Given the description of an element on the screen output the (x, y) to click on. 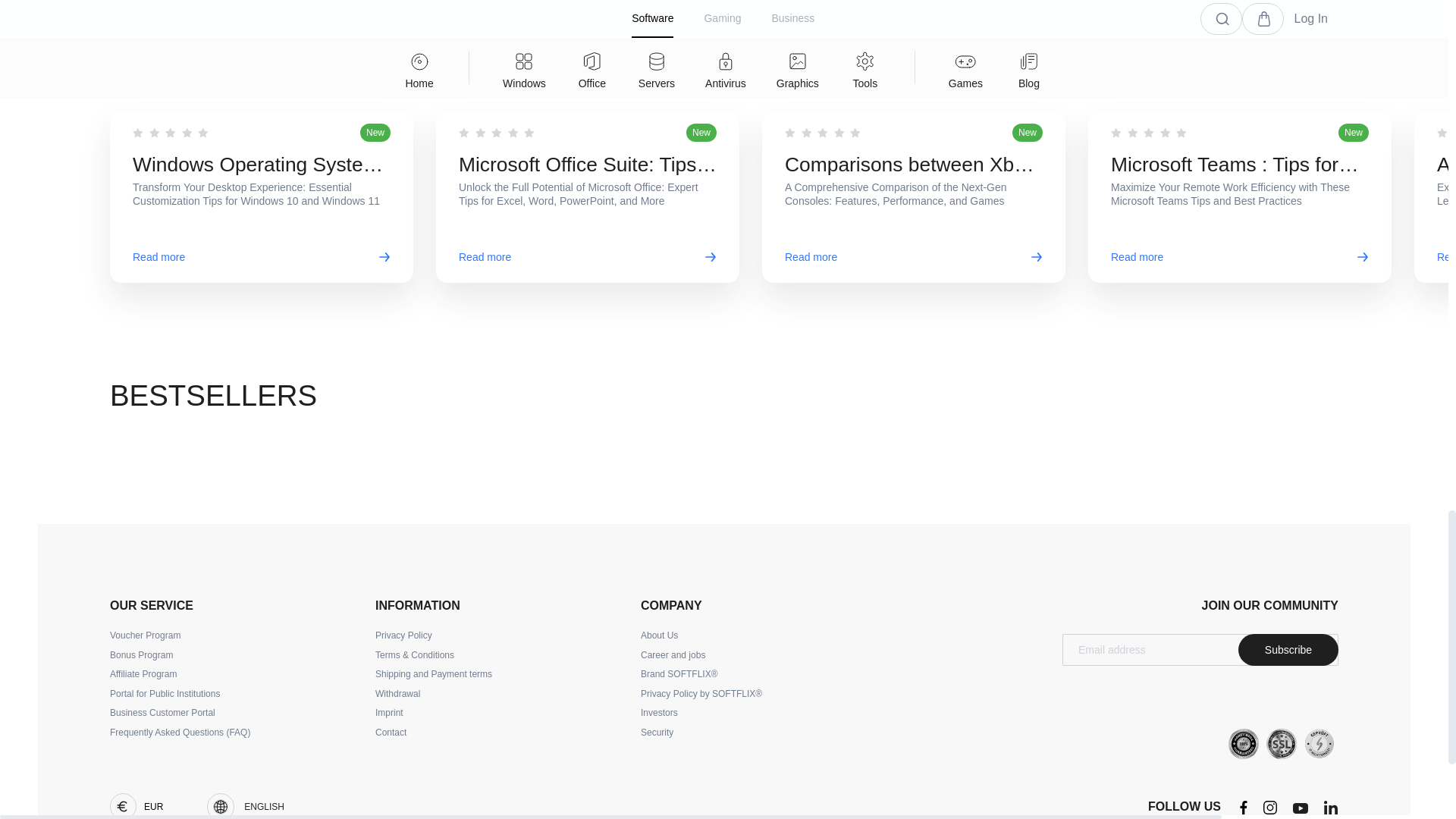
Imprint (389, 713)
Privacy Policy (403, 635)
Shipping and Payment terms (433, 674)
Subscribe (1288, 649)
About Us (659, 635)
Portal for Public Institutions (164, 694)
Career and jobs (672, 655)
